Given the description of an element on the screen output the (x, y) to click on. 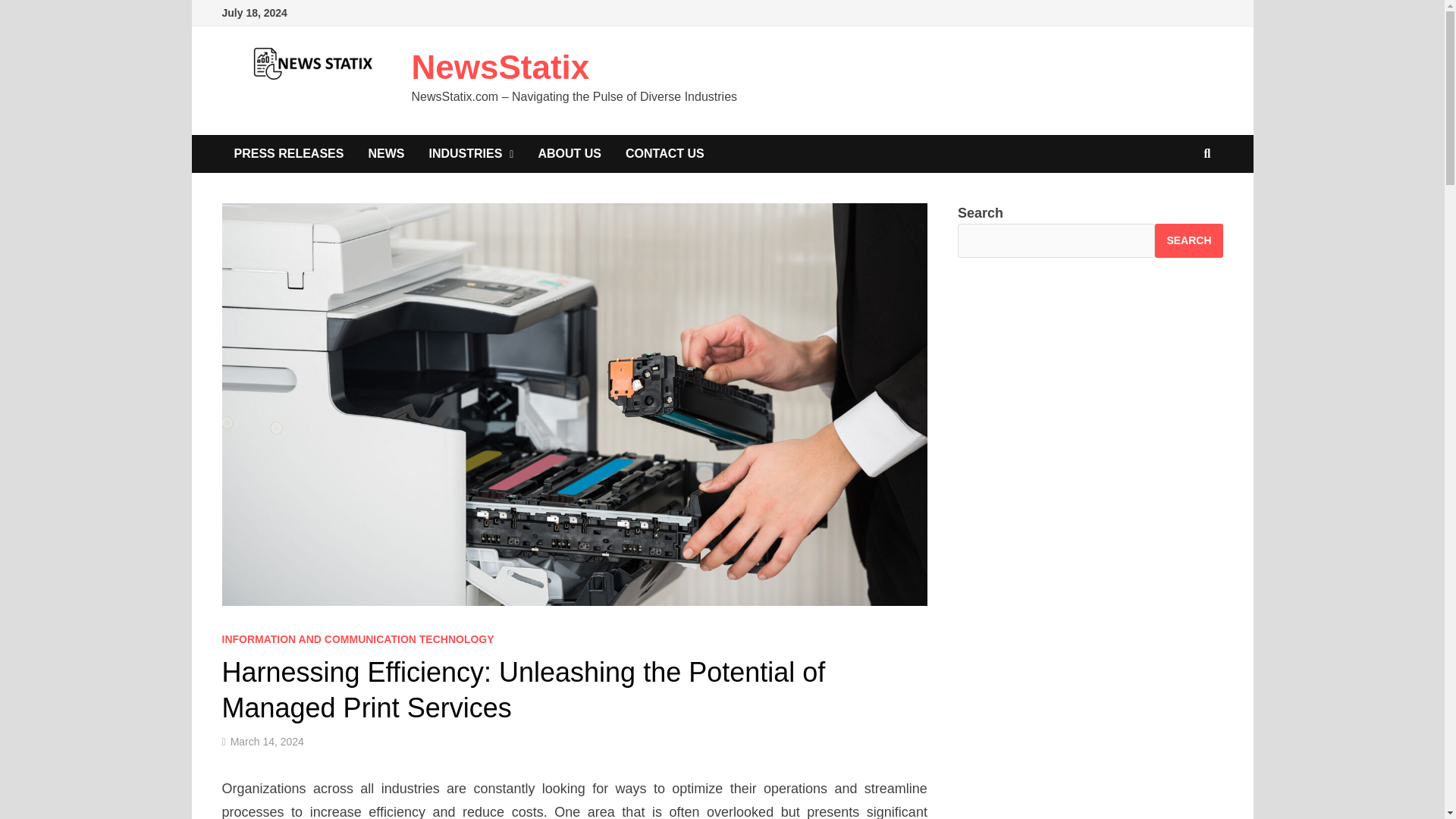
NEWS (385, 153)
CONTACT US (664, 153)
NewsStatix (499, 66)
PRESS RELEASES (288, 153)
INDUSTRIES (470, 153)
ABOUT US (568, 153)
